Given the description of an element on the screen output the (x, y) to click on. 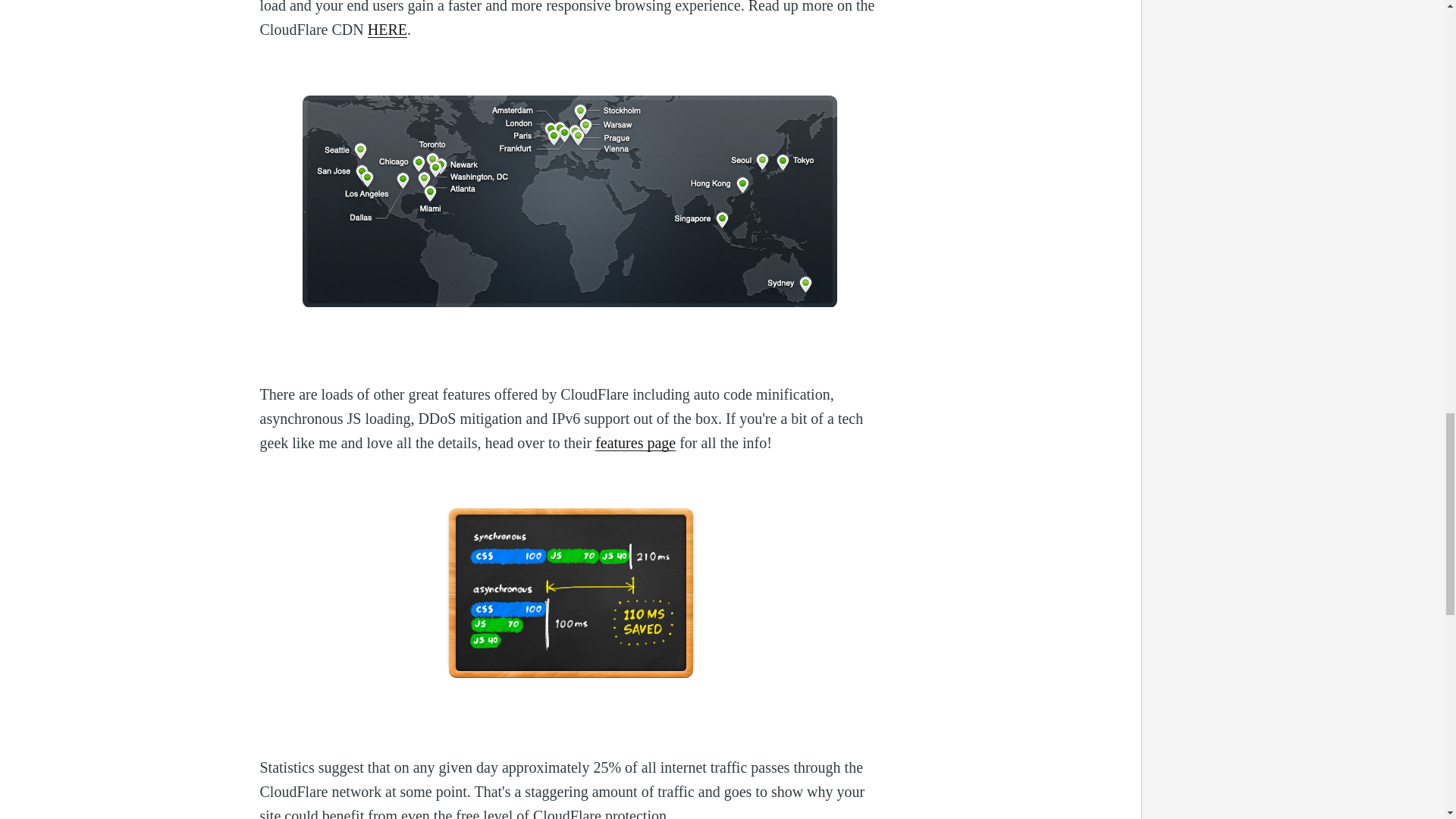
HERE (387, 29)
CloudFlare CDN (387, 29)
CloudFlare Features (635, 442)
features page (635, 442)
